Given the description of an element on the screen output the (x, y) to click on. 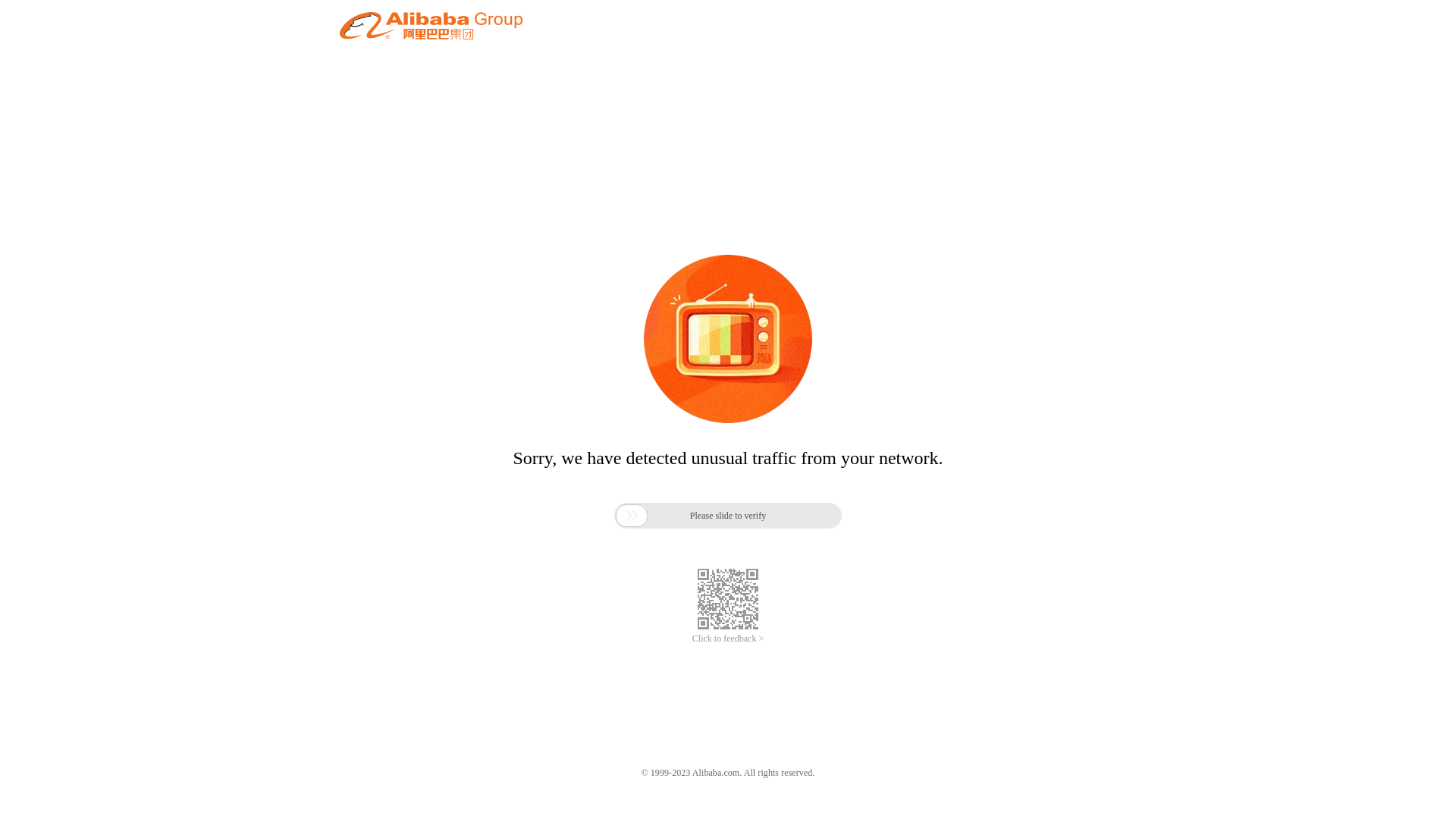
Click to feedback > Element type: text (727, 638)
